Given the description of an element on the screen output the (x, y) to click on. 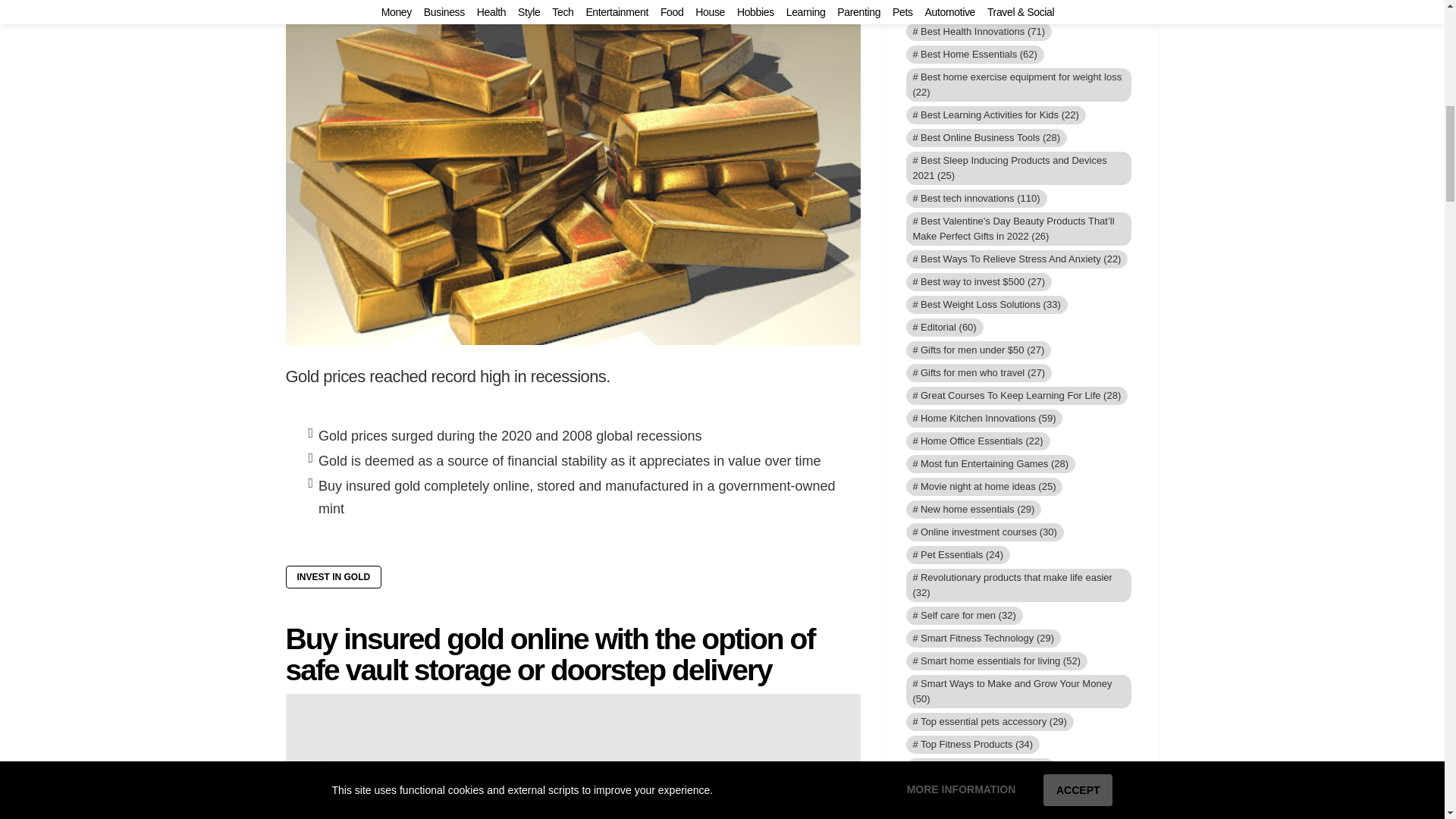
Could gold protect you from any future recessions? (531, 7)
INVEST IN GOLD (333, 576)
